Given the description of an element on the screen output the (x, y) to click on. 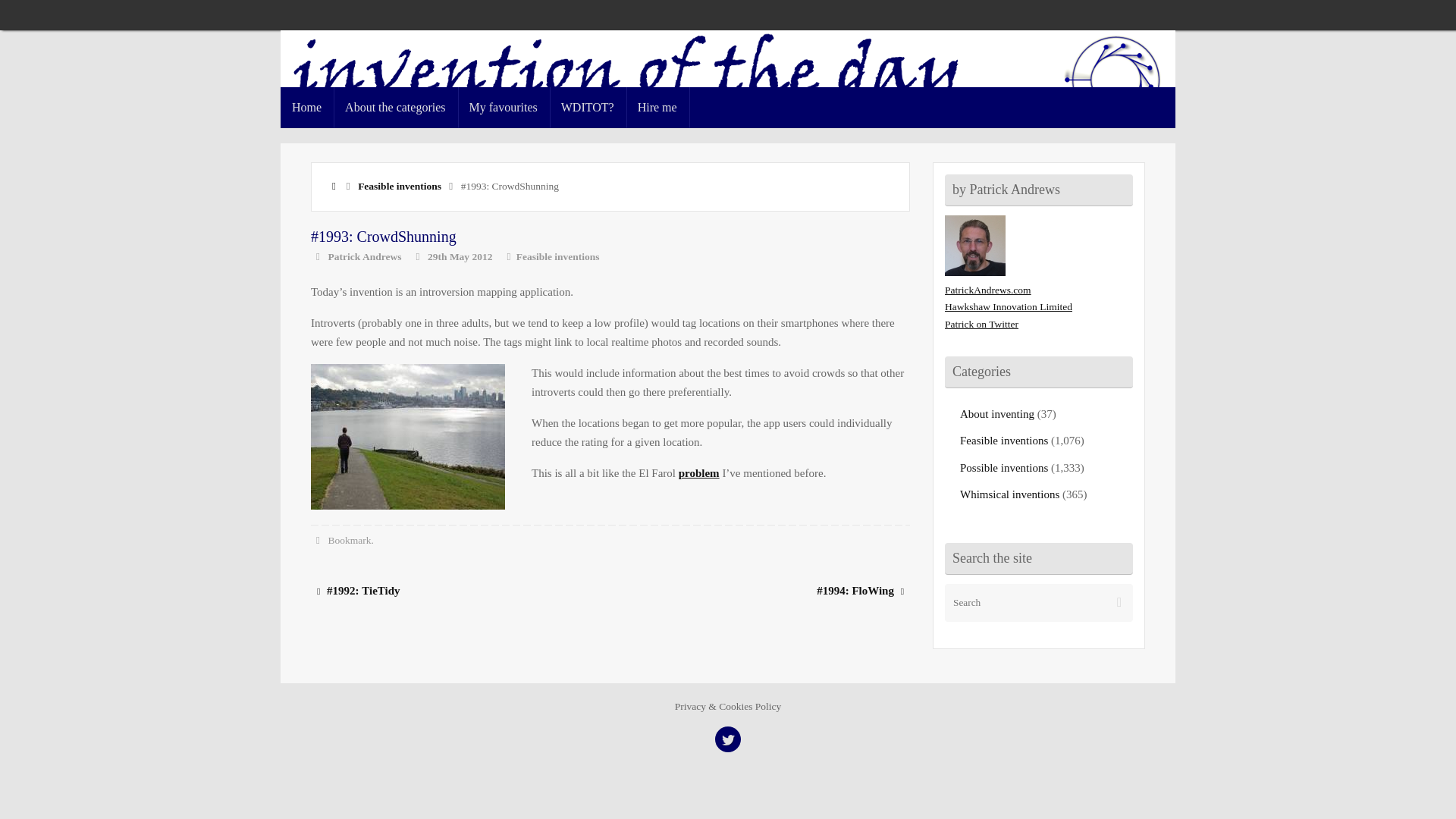
Feasible inventions (1003, 440)
Home (333, 185)
 Bookmark the permalink (317, 540)
My favourites (504, 106)
Invention Of The Day (727, 83)
Feasible inventions (399, 185)
Bookmark (350, 540)
29th May 2012 (460, 256)
About inventing (996, 413)
Author (317, 256)
